Given the description of an element on the screen output the (x, y) to click on. 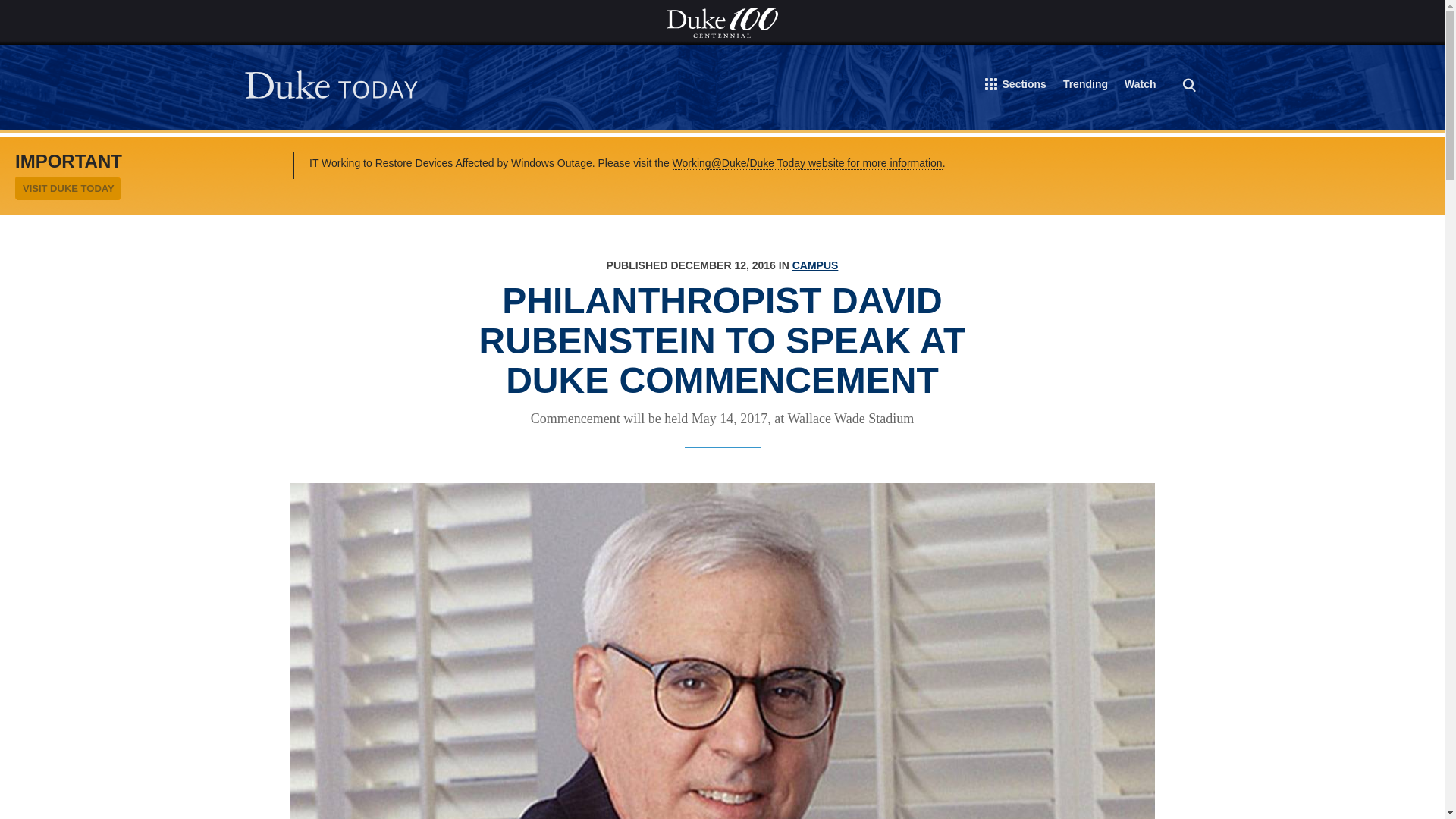
Trending (1085, 86)
Watch (1140, 86)
Sections (1015, 87)
